Given the description of an element on the screen output the (x, y) to click on. 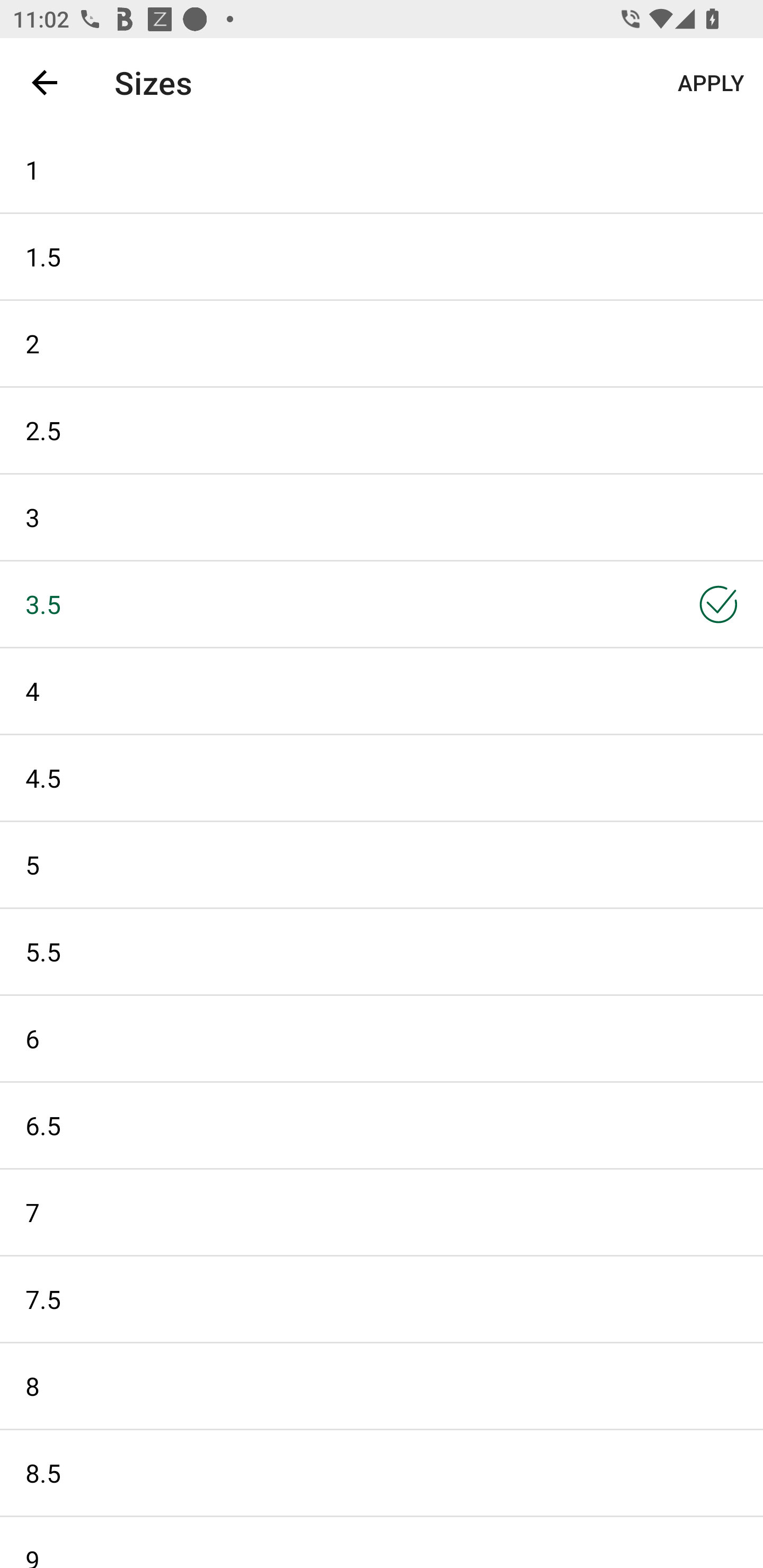
heels (370, 82)
1 (381, 169)
1.5 (381, 256)
2 (381, 343)
2.5 (381, 430)
3 (381, 517)
3.5 Next (381, 603)
4 (381, 691)
4.5 (381, 777)
5 (381, 864)
5.5 (381, 951)
6 (381, 1038)
6.5 (381, 1125)
7 (381, 1211)
7.5 (381, 1298)
8 (381, 1385)
8.5 (381, 1473)
9 (381, 1542)
